Given the description of an element on the screen output the (x, y) to click on. 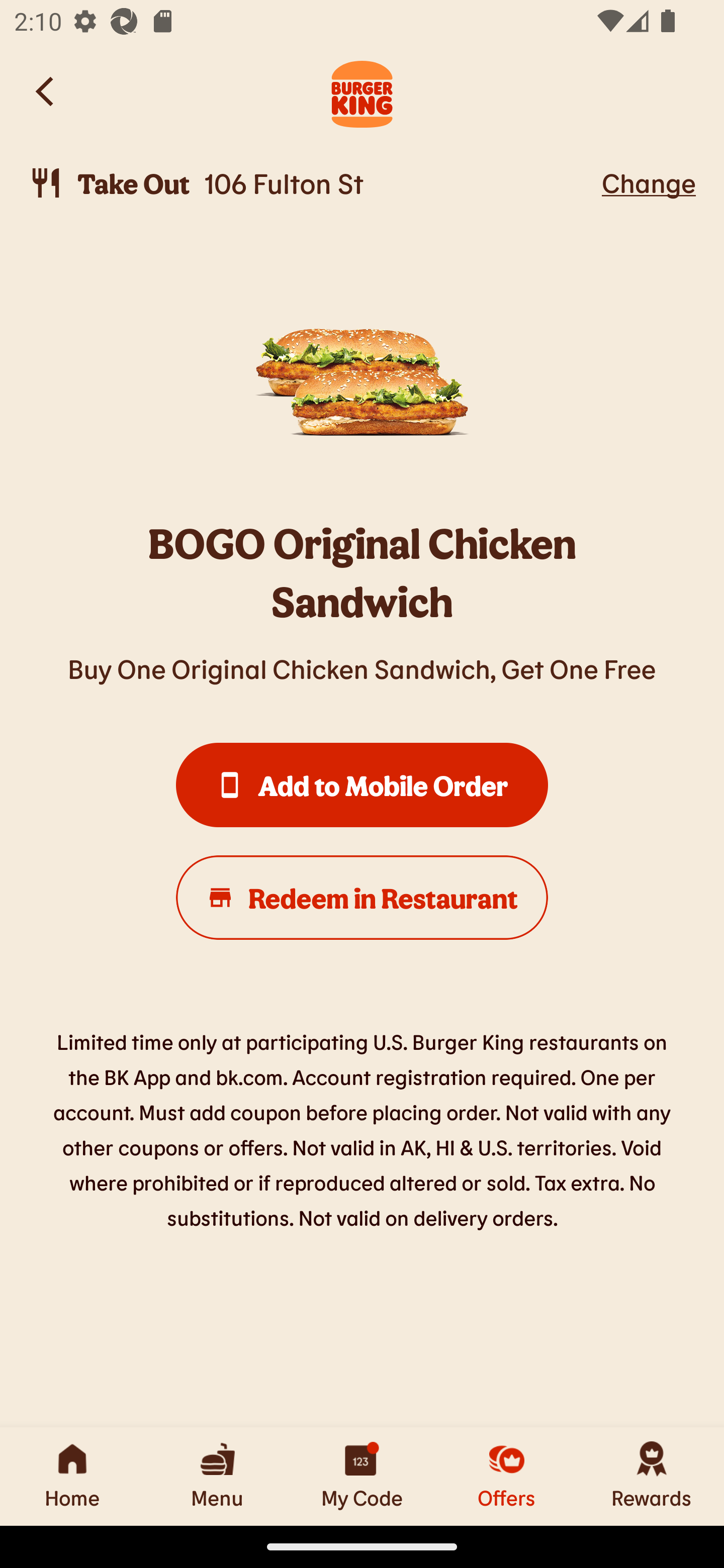
Burger King Logo. Navigate to Home (362, 91)
Back (45, 91)
Take Out, 106 Fulton St  Take Out 106 Fulton St (311, 183)
Change (648, 182)
Add to Mobile Order (361, 785)
Redeem in Restaurant  Redeem in Restaurant (361, 897)
Home (72, 1475)
Menu (216, 1475)
My Code (361, 1475)
Offers (506, 1475)
Rewards (651, 1475)
